Given the description of an element on the screen output the (x, y) to click on. 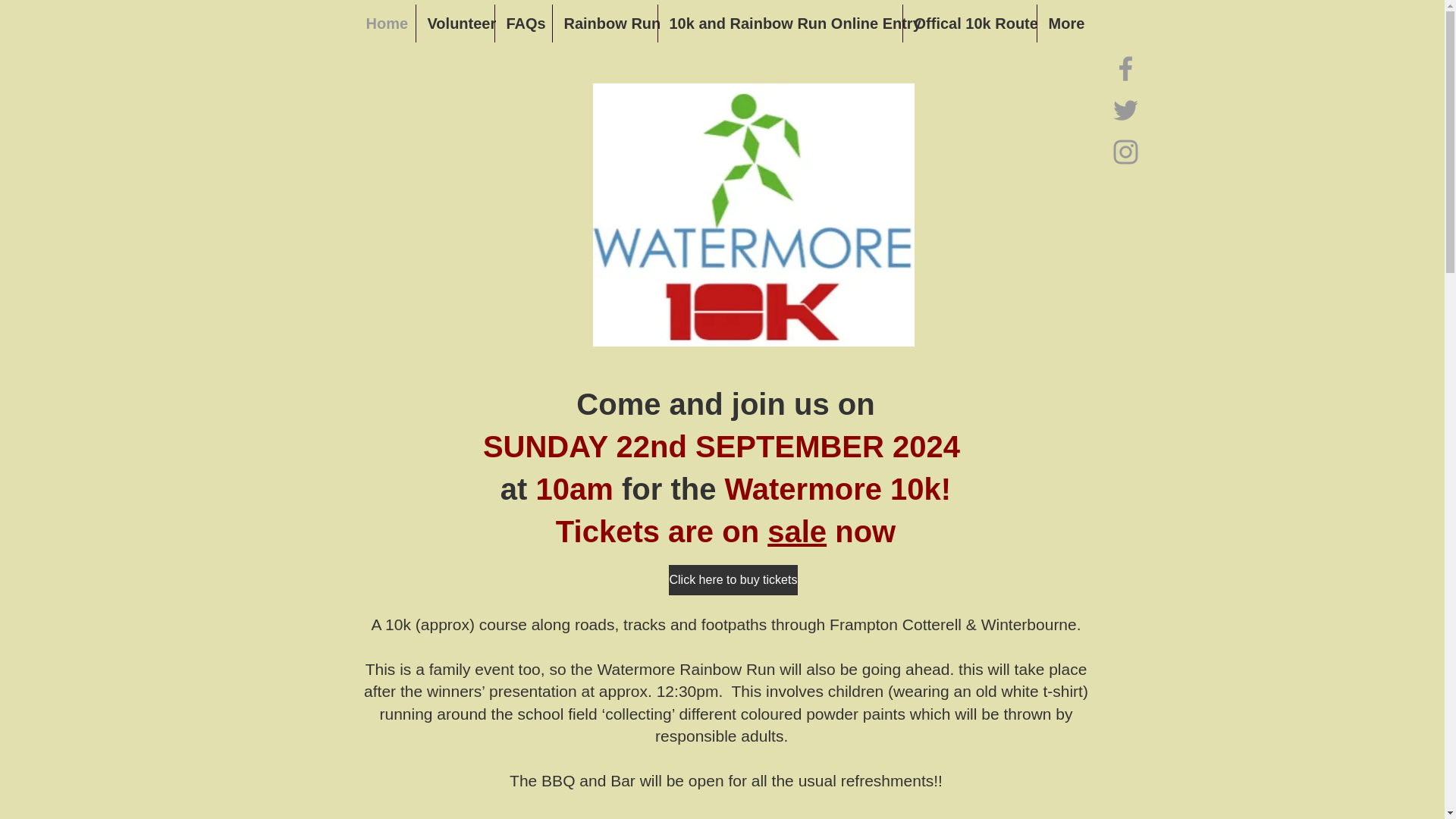
Click here to buy tickets (732, 580)
sale (797, 531)
Offical 10k Route (968, 23)
Volunteer (453, 23)
Home (384, 23)
Facebook Like (1137, 200)
FAQs (523, 23)
10k and Rainbow Run Online Entry (780, 23)
Rainbow Run (603, 23)
